Given the description of an element on the screen output the (x, y) to click on. 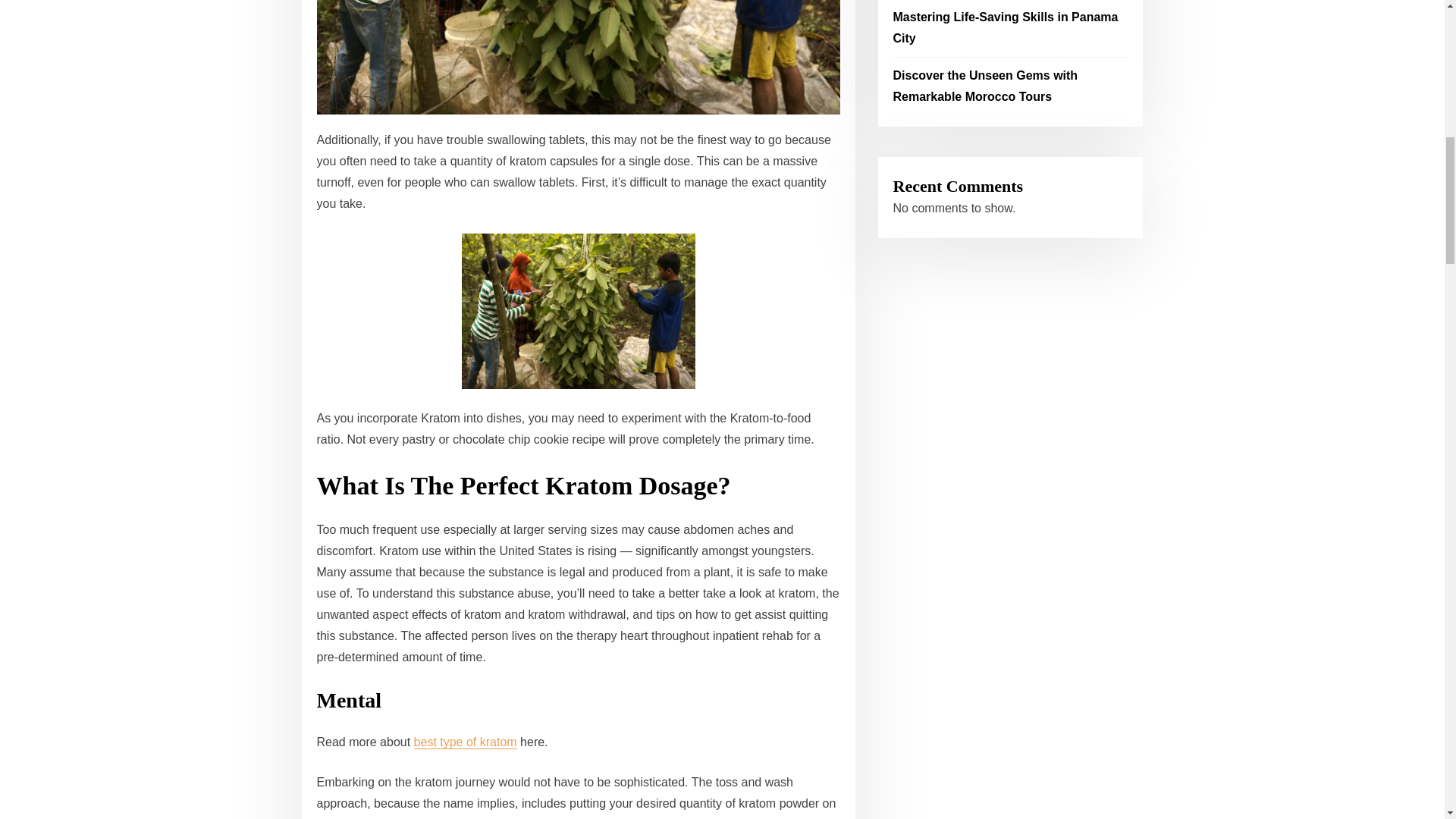
Discover the Unseen Gems with Remarkable Morocco Tours (985, 85)
best type of kratom (464, 741)
Mastering Life-Saving Skills in Panama City (1005, 27)
